Given the description of an element on the screen output the (x, y) to click on. 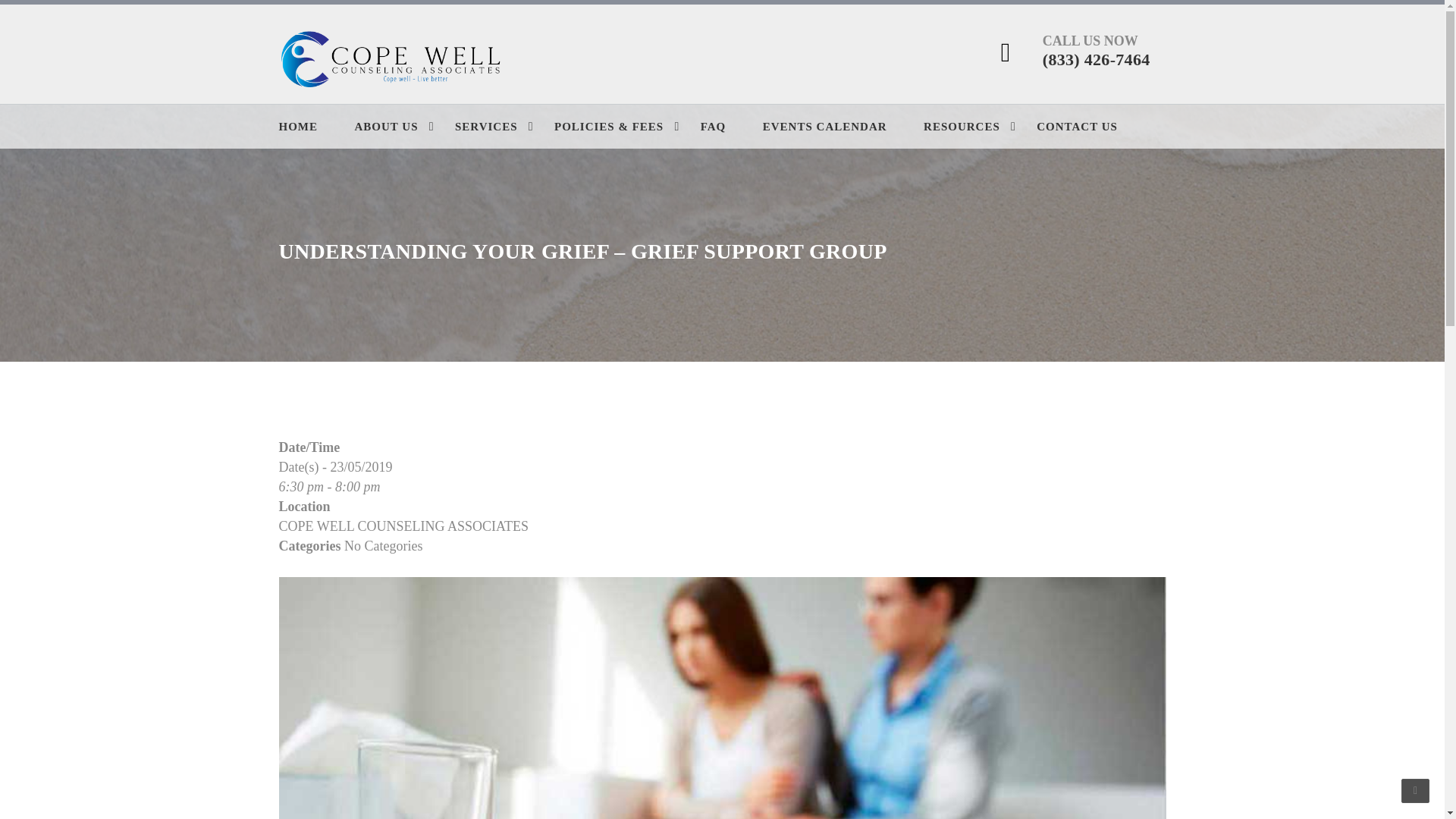
SERVICES (502, 126)
FAQ (730, 126)
COPE WELL COUNSELING ASSOCIATES (404, 525)
ABOUT US (403, 126)
CONTACT US (1093, 126)
RESOURCES (978, 126)
HOME (315, 126)
EVENTS CALENDAR (841, 126)
